Given the description of an element on the screen output the (x, y) to click on. 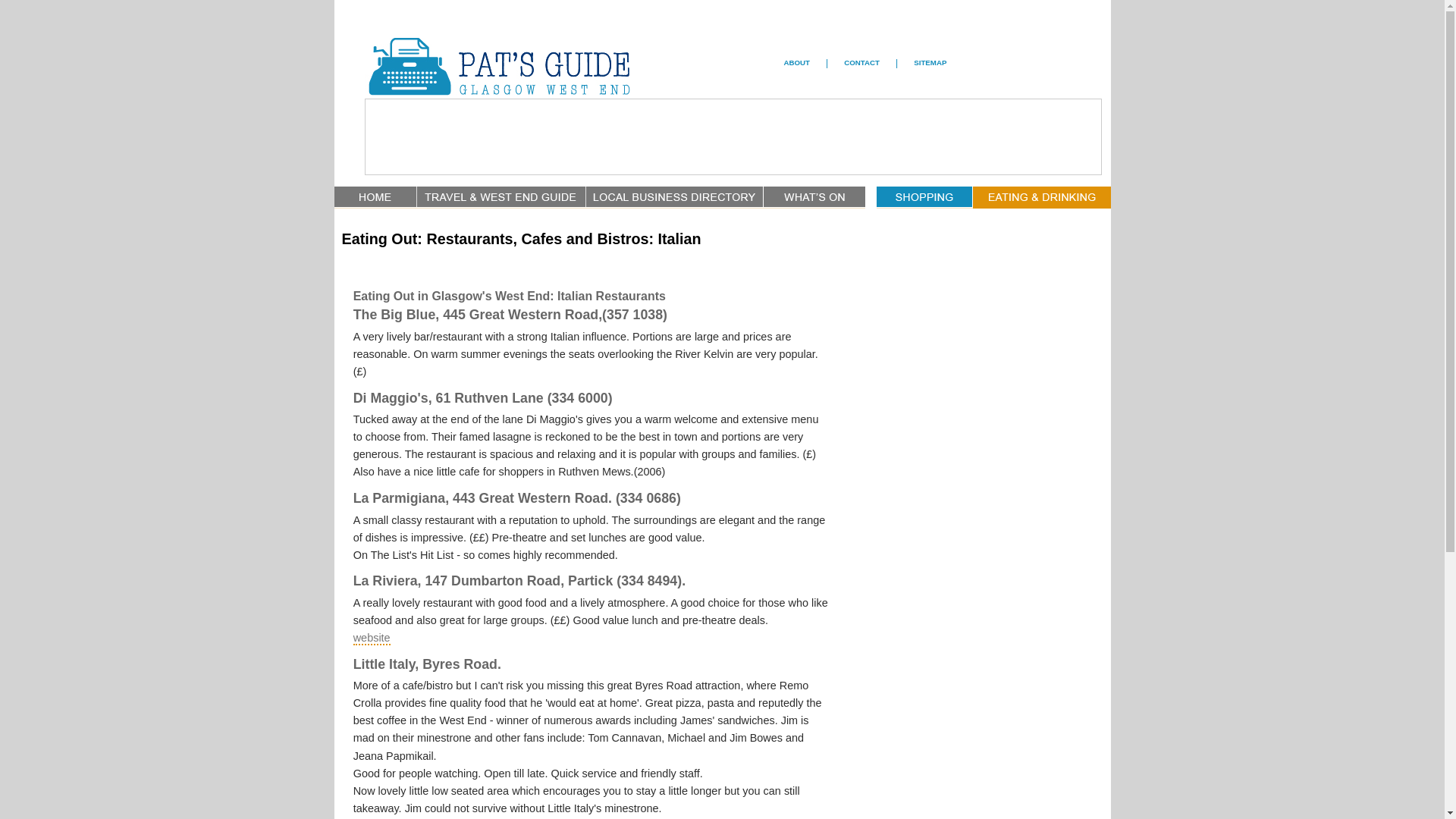
ABOUT (797, 62)
SITEMAP (930, 62)
CONTACT (861, 62)
Advertisement (732, 137)
